Given the description of an element on the screen output the (x, y) to click on. 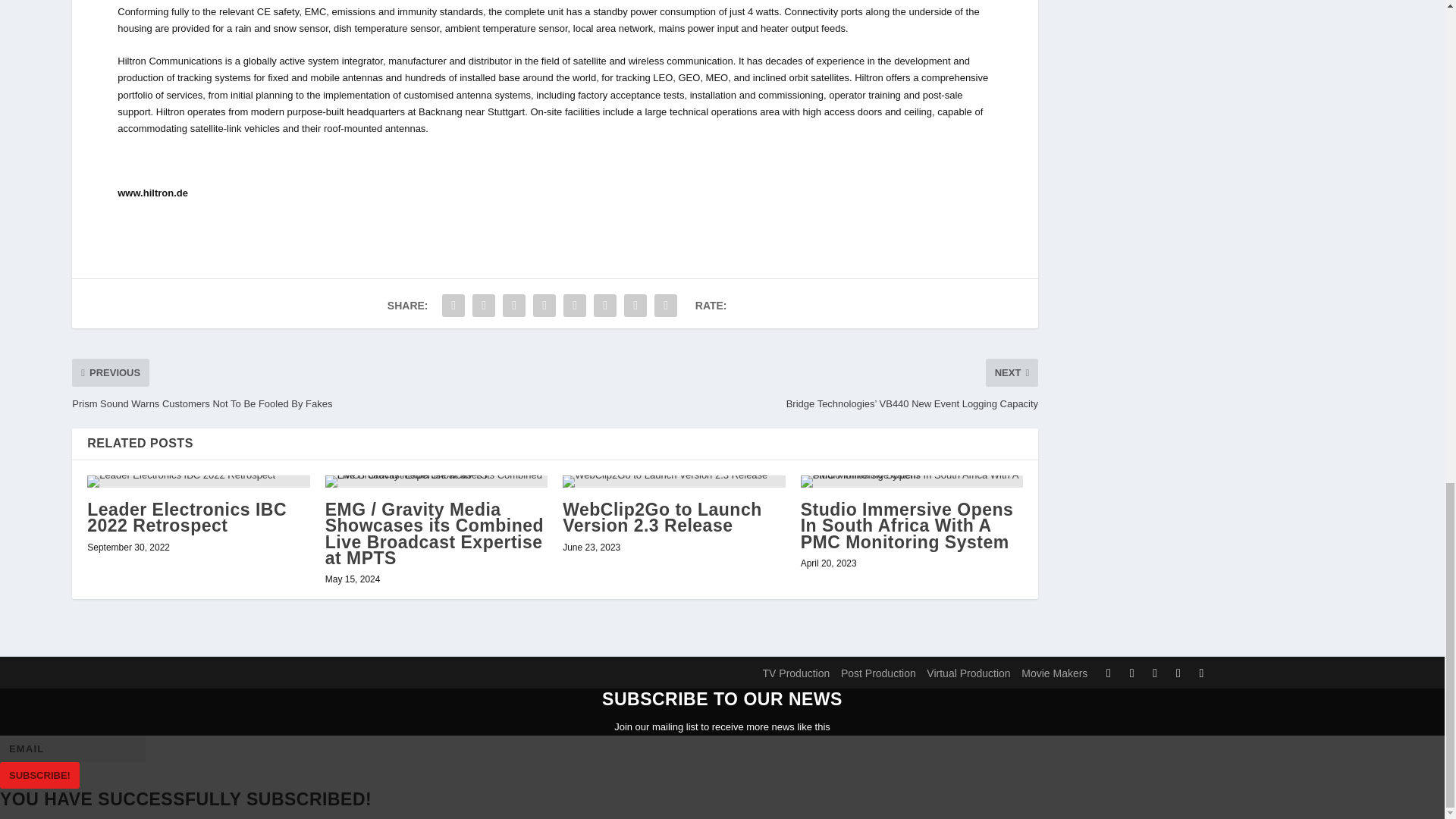
WebClip2Go to Launch Version 2.3 Release (661, 517)
Leader Electronics IBC 2022 Retrospect (197, 481)
WebClip2Go to Launch Version 2.3 Release (673, 481)
Leader Electronics IBC 2022 Retrospect (186, 517)
